Given the description of an element on the screen output the (x, y) to click on. 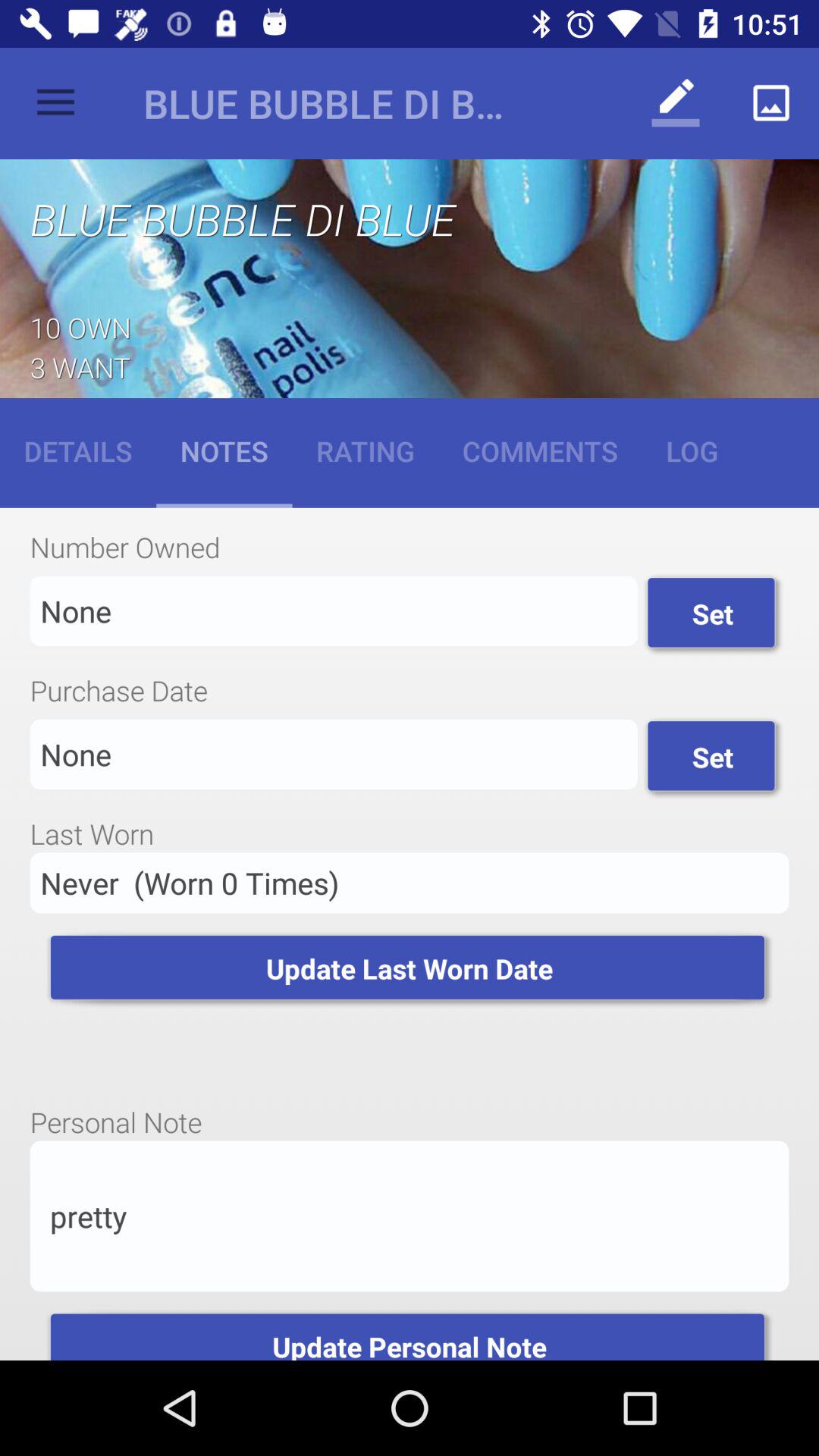
turn off rating item (365, 450)
